Given the description of an element on the screen output the (x, y) to click on. 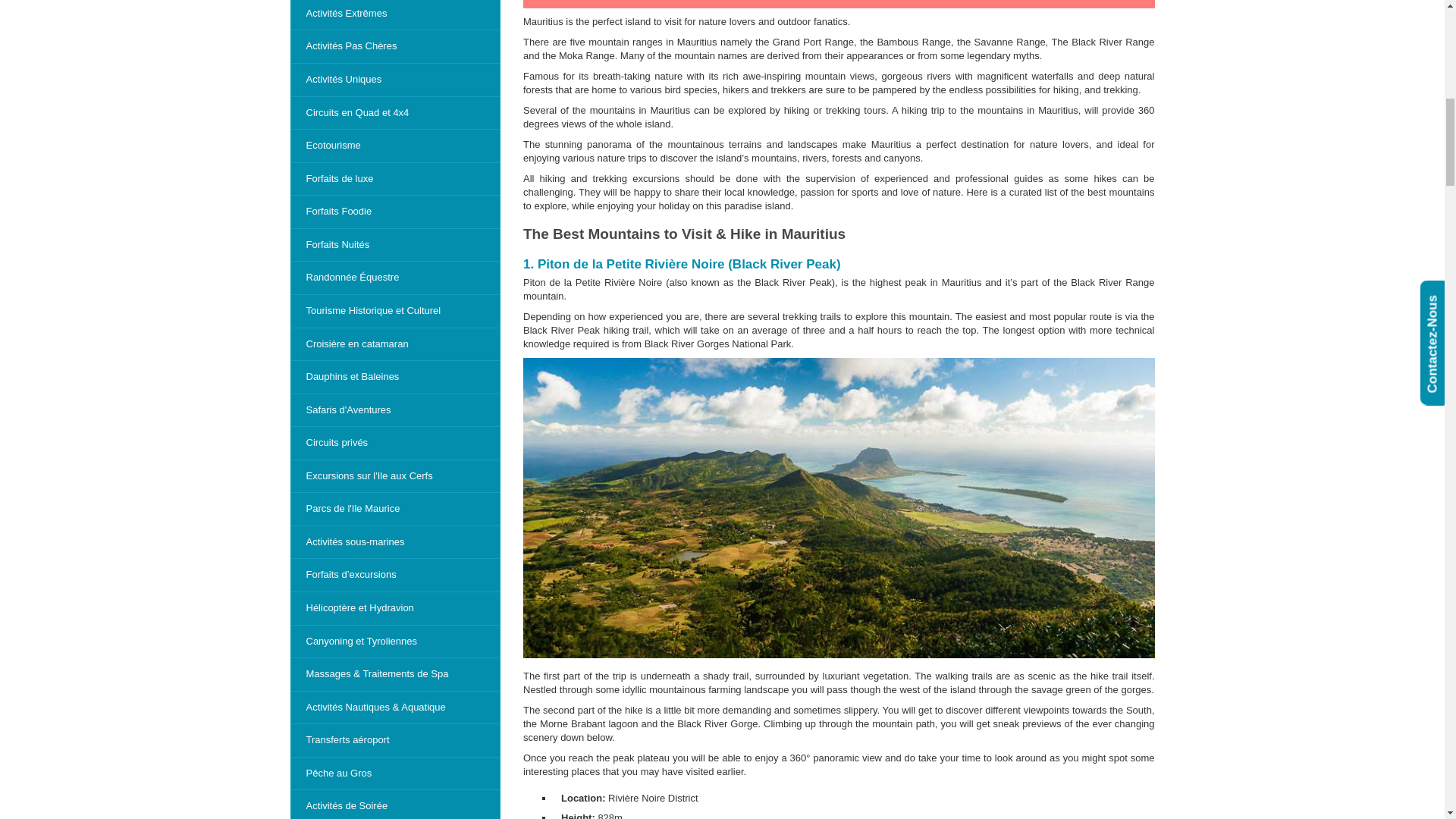
Excursions sur l'Ile aux Cerfs (394, 476)
Tourisme Historique et Culturel (394, 311)
Circuits en Quad et 4x4 (394, 113)
Forfaits Foodie (394, 211)
Ecotourisme (394, 145)
